Given the description of an element on the screen output the (x, y) to click on. 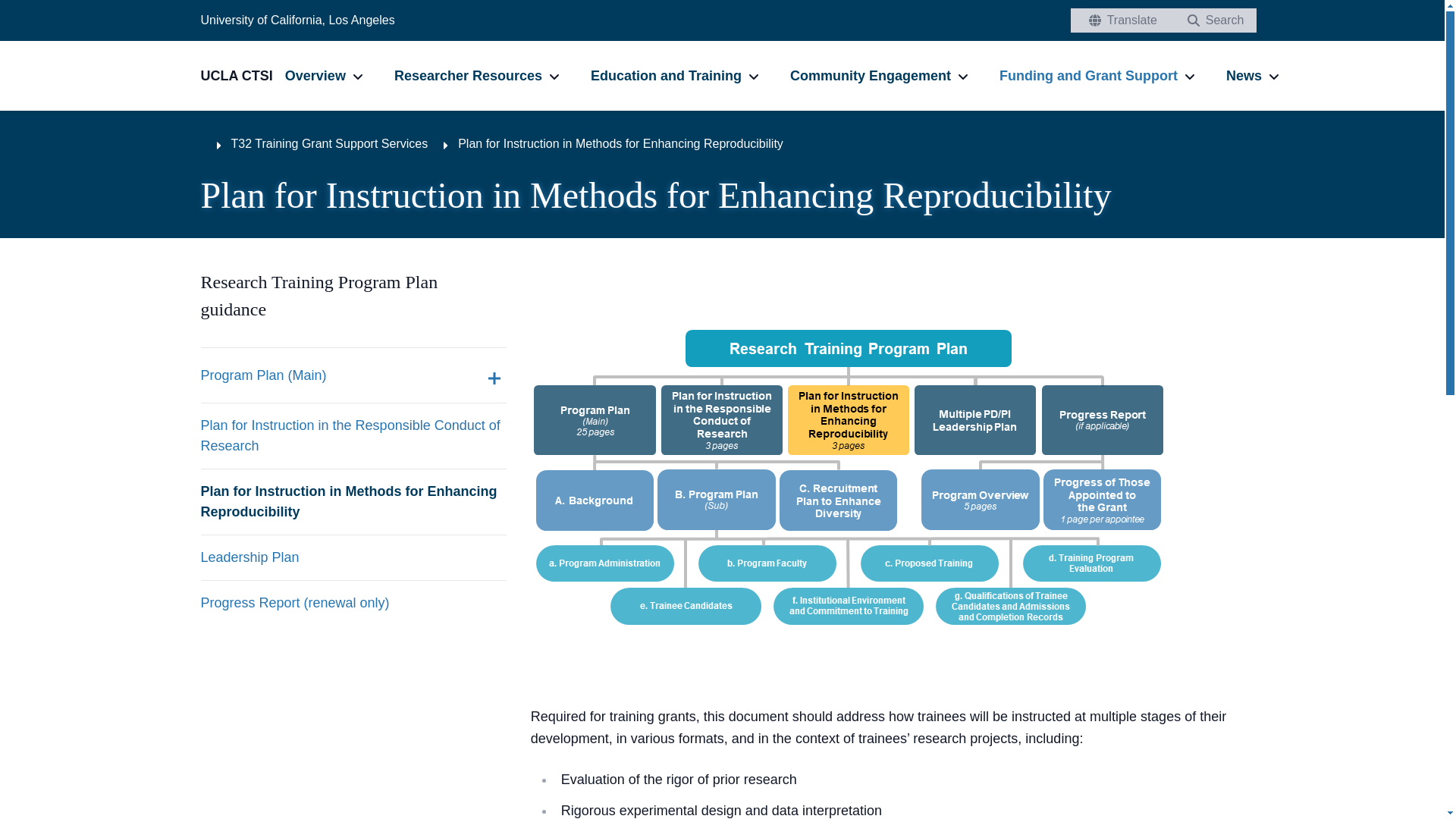
UCLA CTSI (241, 75)
Researcher Resources (467, 74)
Researcher Resources sub-navigation (553, 75)
Search (1212, 20)
Translate (1119, 20)
Overview sub-navigation (357, 75)
University of California, Los Angeles (296, 20)
